Given the description of an element on the screen output the (x, y) to click on. 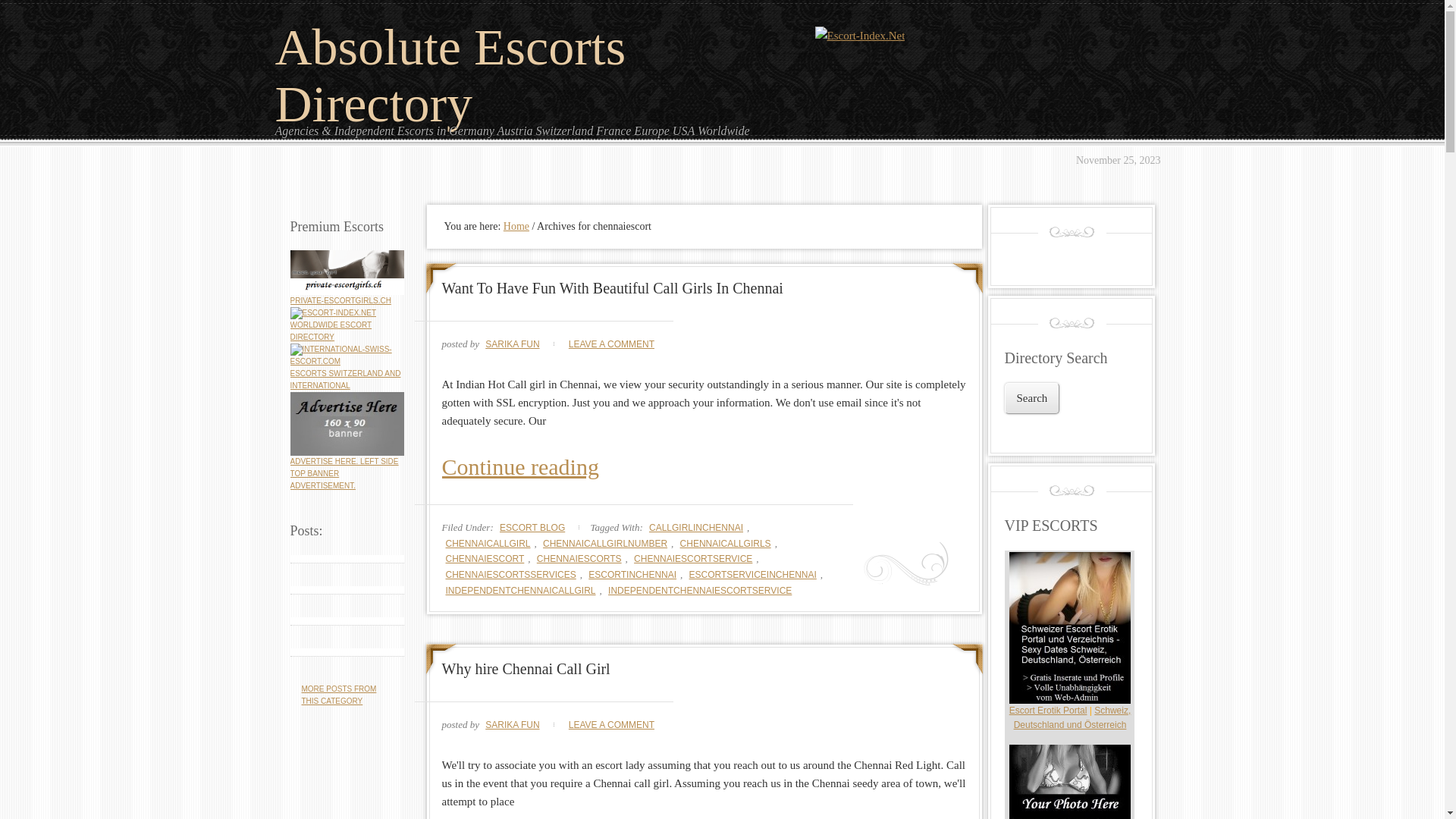
ADVERTISE HERE. LEFT SIDE TOP BANNER ADVERTISEMENT. Element type: text (343, 473)
Search Element type: text (1031, 398)
PRIVATE-ESCORTGIRLS.CH Element type: text (339, 300)
Want To Have Fun With Beautiful Call Girls In Chennai Element type: text (611, 287)
CHENNAIESCORTSSERVICES Element type: text (510, 574)
CHENNAICALLGIRLNUMBER Element type: text (605, 543)
WORLDWIDE ESCORT DIRECTORY Element type: text (332, 324)
ESCORTSERVICEINCHENNAI Element type: text (752, 574)
MORE POSTS FROM THIS CATEGORY Element type: text (338, 694)
Continue reading Element type: text (703, 466)
CHENNAICALLGIRLS Element type: text (725, 543)
CHENNAIESCORTS Element type: text (579, 558)
SARIKA FUN Element type: text (511, 343)
ESCORT BLOG Element type: text (531, 527)
Why hire Chennai Call Girl Element type: text (525, 668)
LEAVE A COMMENT Element type: text (611, 724)
CHENNAIESCORT Element type: text (484, 558)
LEAVE A COMMENT Element type: text (611, 343)
ESCORTINCHENNAI Element type: text (632, 574)
CHENNAICALLGIRL Element type: text (487, 543)
Absolute Escorts Directory Element type: text (449, 75)
ESCORTS SWITZERLAND AND INTERNATIONAL Element type: text (346, 373)
Home Element type: text (516, 226)
INDEPENDENTCHENNAICALLGIRL Element type: text (520, 590)
SARIKA FUN Element type: text (511, 724)
CHENNAIESCORTSERVICE Element type: text (693, 558)
INDEPENDENTCHENNAIESCORTSERVICE Element type: text (699, 590)
CALLGIRLINCHENNAI Element type: text (695, 527)
Escort Erotik Portal Element type: text (1048, 710)
